Given the description of an element on the screen output the (x, y) to click on. 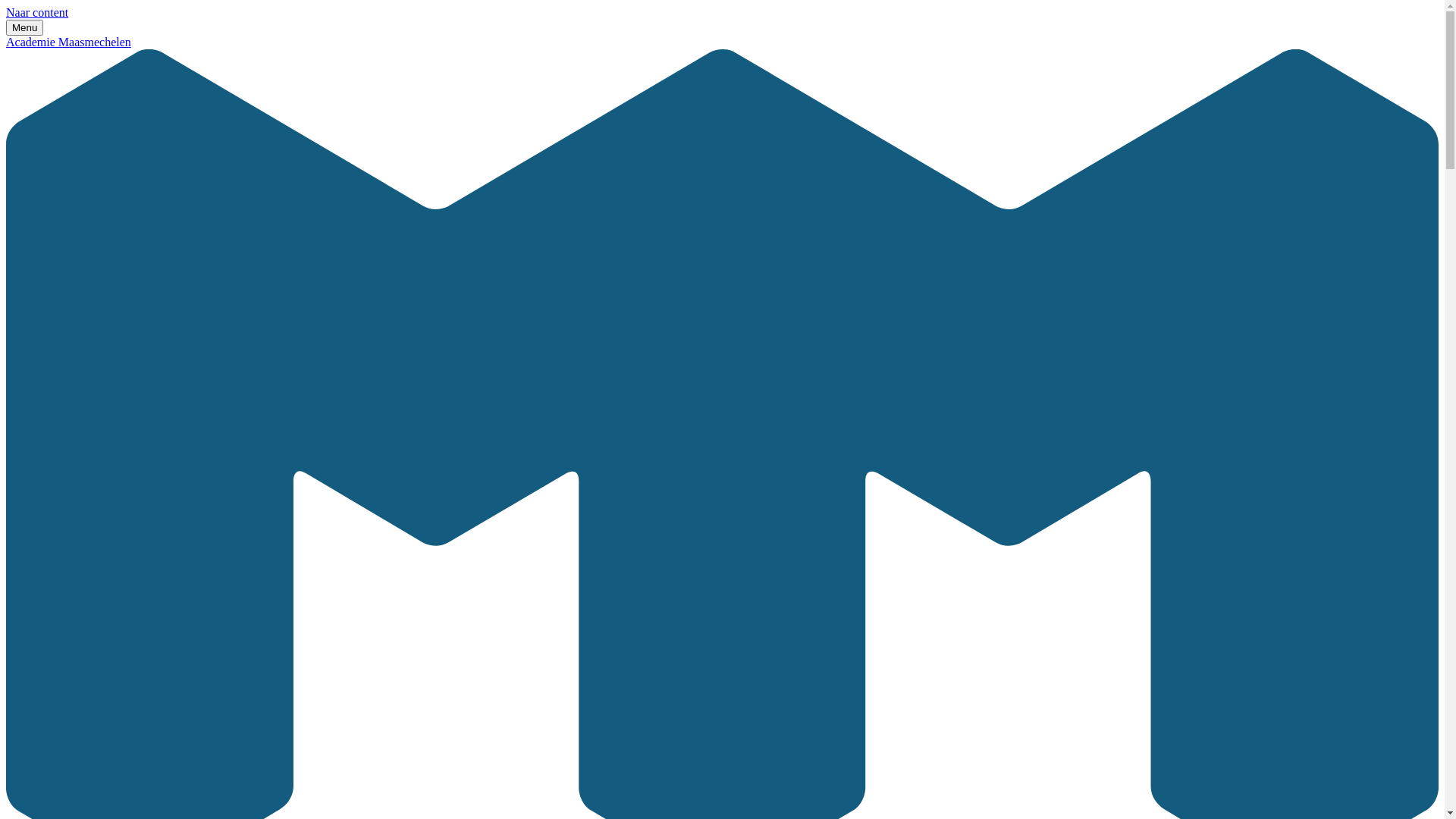
Menu Element type: text (24, 27)
Naar content Element type: text (37, 12)
